Given the description of an element on the screen output the (x, y) to click on. 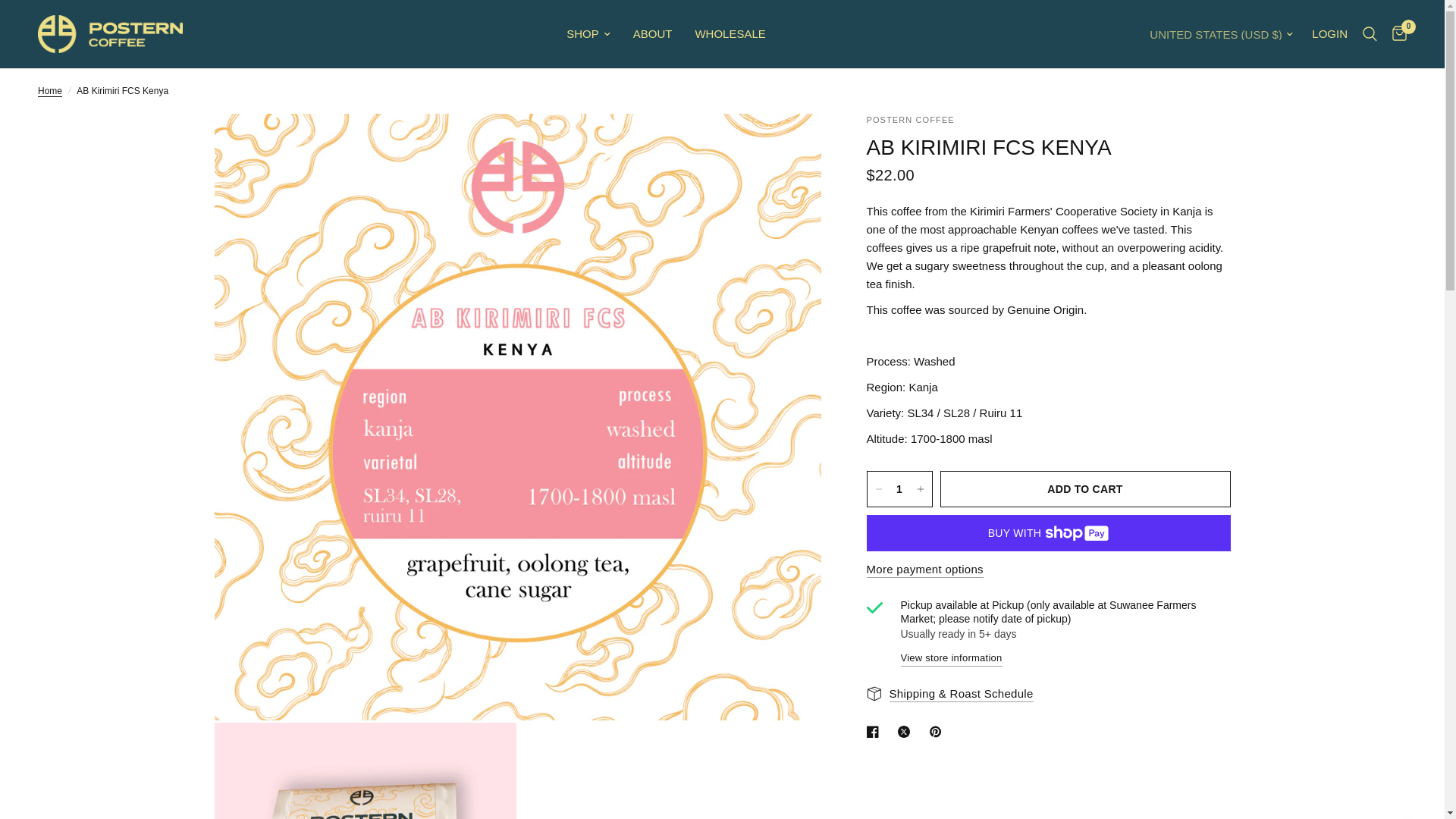
SHOP (588, 34)
ABOUT (652, 34)
Home (49, 91)
Shop (588, 34)
About (652, 34)
View store information (952, 657)
More payment options (924, 568)
WHOLESALE (729, 34)
Wholesale (729, 34)
ADD TO CART (1085, 488)
Home (49, 91)
